Given the description of an element on the screen output the (x, y) to click on. 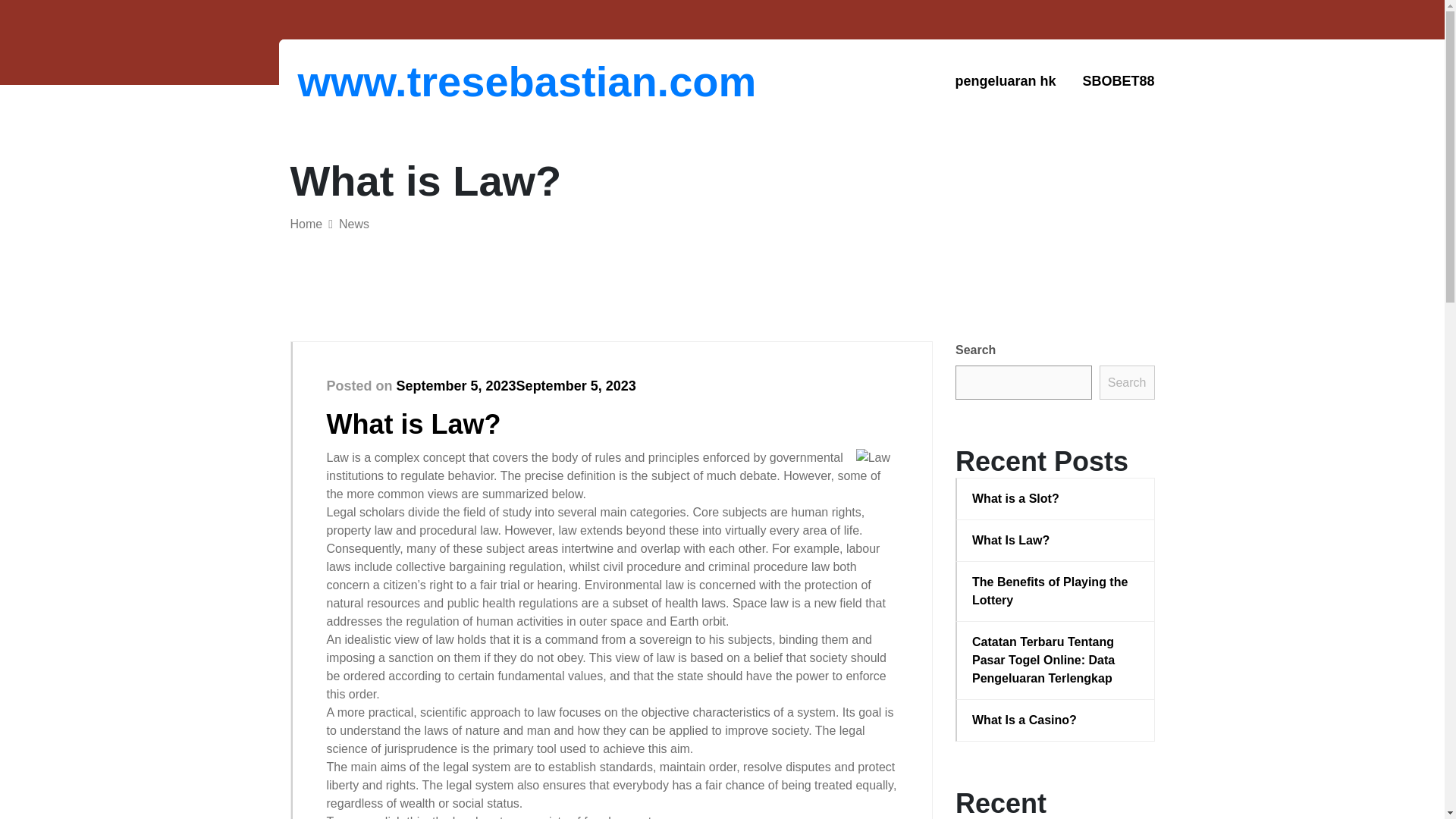
What is a Slot? (1055, 498)
pengeluaran hk (1005, 81)
September 5, 2023September 5, 2023 (516, 385)
Home (305, 223)
Search (1126, 382)
The Benefits of Playing the Lottery (1055, 591)
What is Law? (413, 423)
What Is Law? (1055, 540)
SBOBET88 (1117, 81)
News (354, 223)
pengeluaran hk (1005, 81)
www.tresebastian.com (376, 81)
What Is a Casino? (1055, 720)
SBOBET88 (1117, 81)
